Given the description of an element on the screen output the (x, y) to click on. 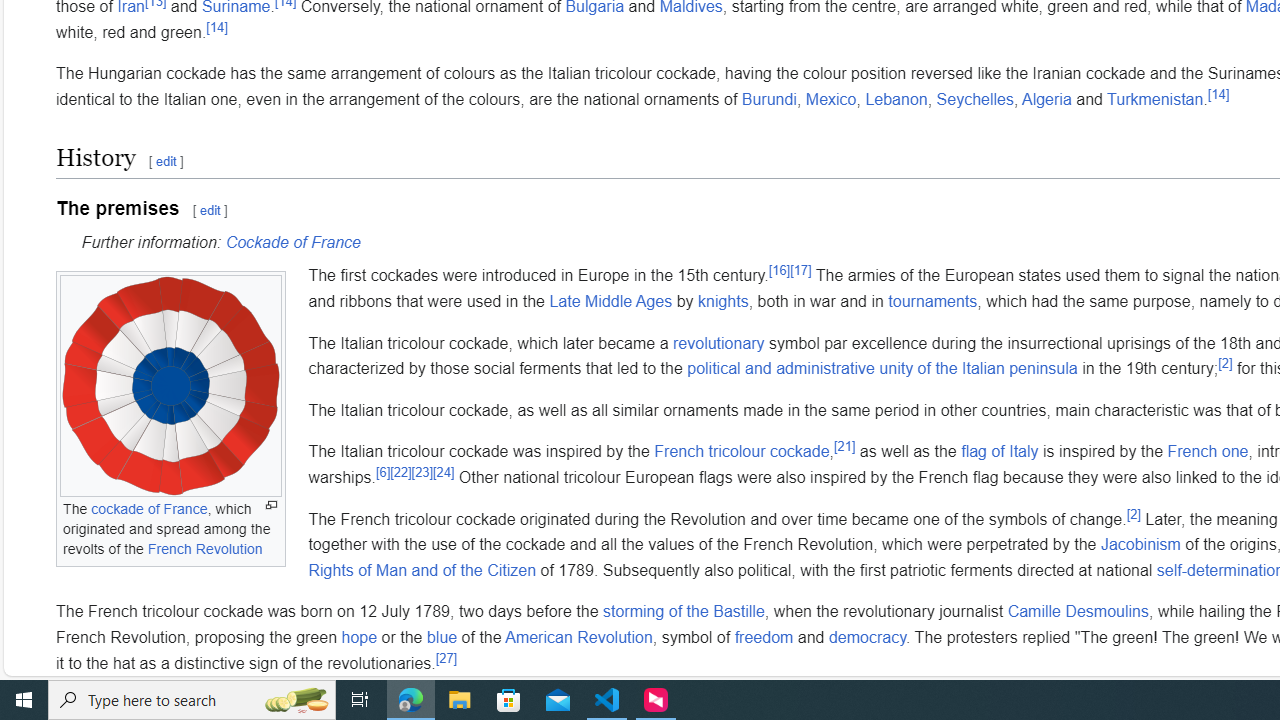
French Revolution (204, 548)
Mexico (831, 99)
[16] (779, 270)
political and administrative unity of the Italian peninsula (882, 369)
revolutionary (719, 343)
cockade of France (148, 509)
[2] (1133, 514)
[24] (443, 471)
